Given the description of an element on the screen output the (x, y) to click on. 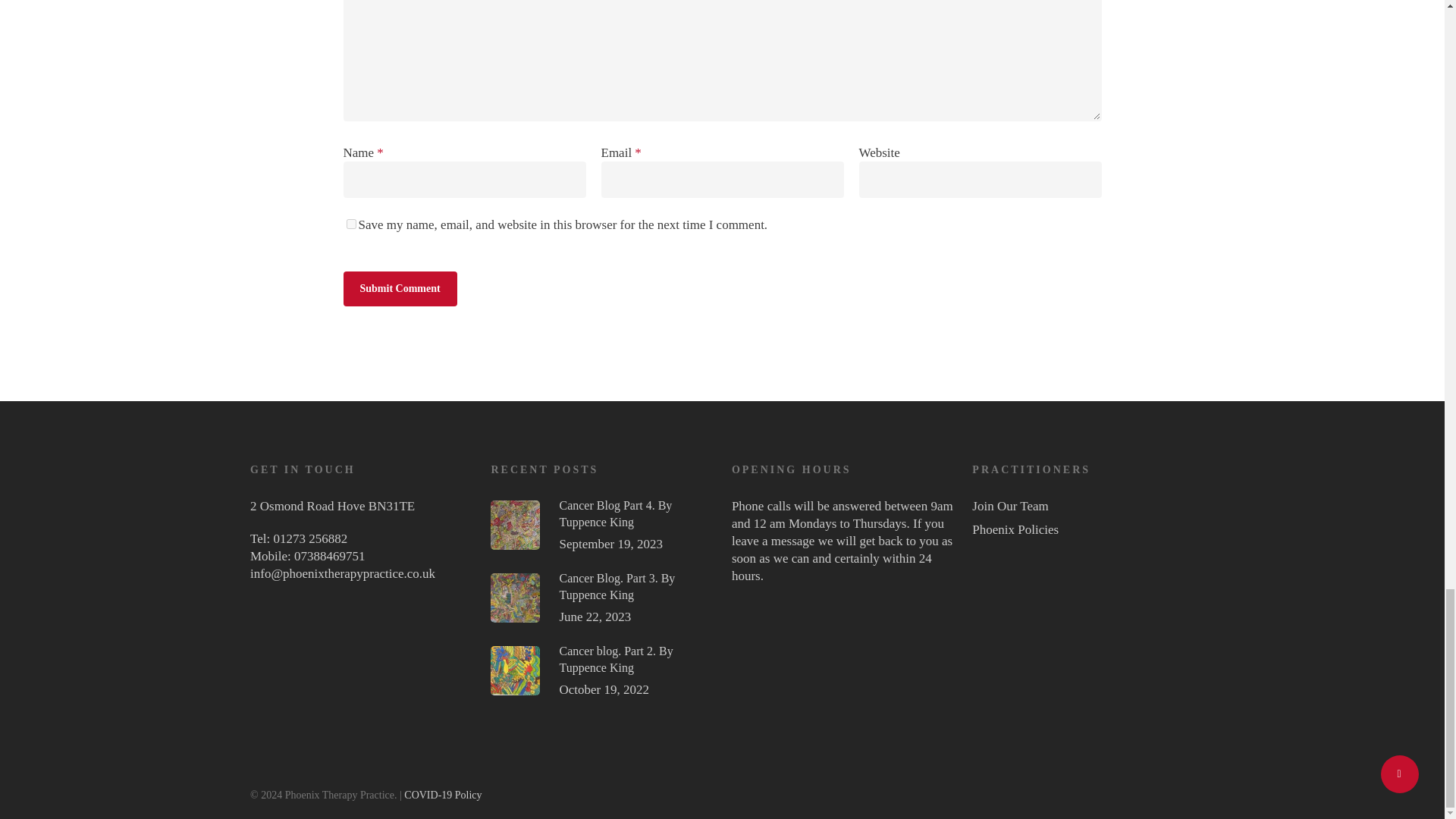
Submit Comment (399, 288)
yes (350, 224)
